Given the description of an element on the screen output the (x, y) to click on. 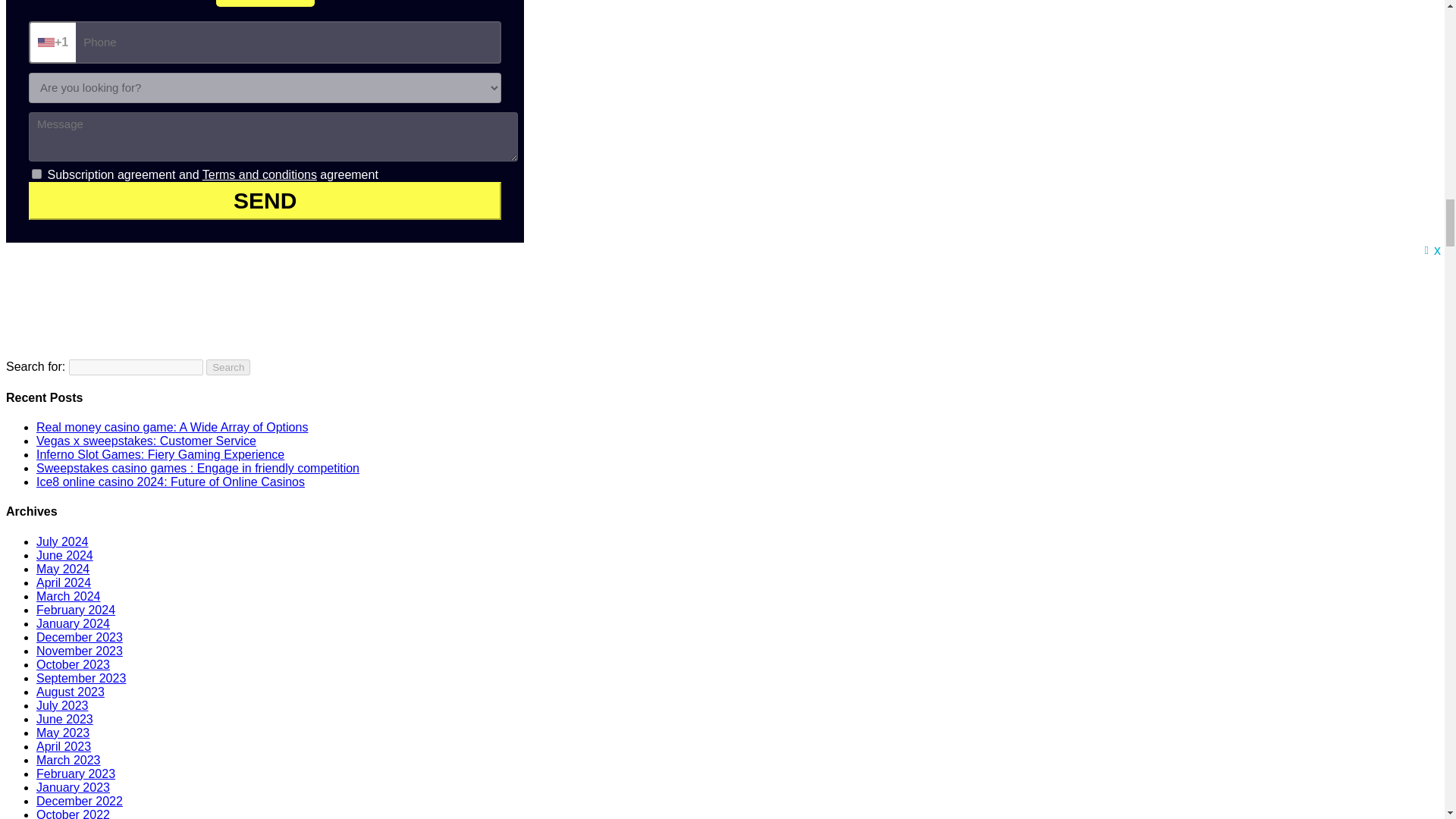
Terms and conditions (259, 174)
Send (264, 200)
Search (228, 367)
Search (228, 367)
1 (37, 173)
Send (264, 200)
